Given the description of an element on the screen output the (x, y) to click on. 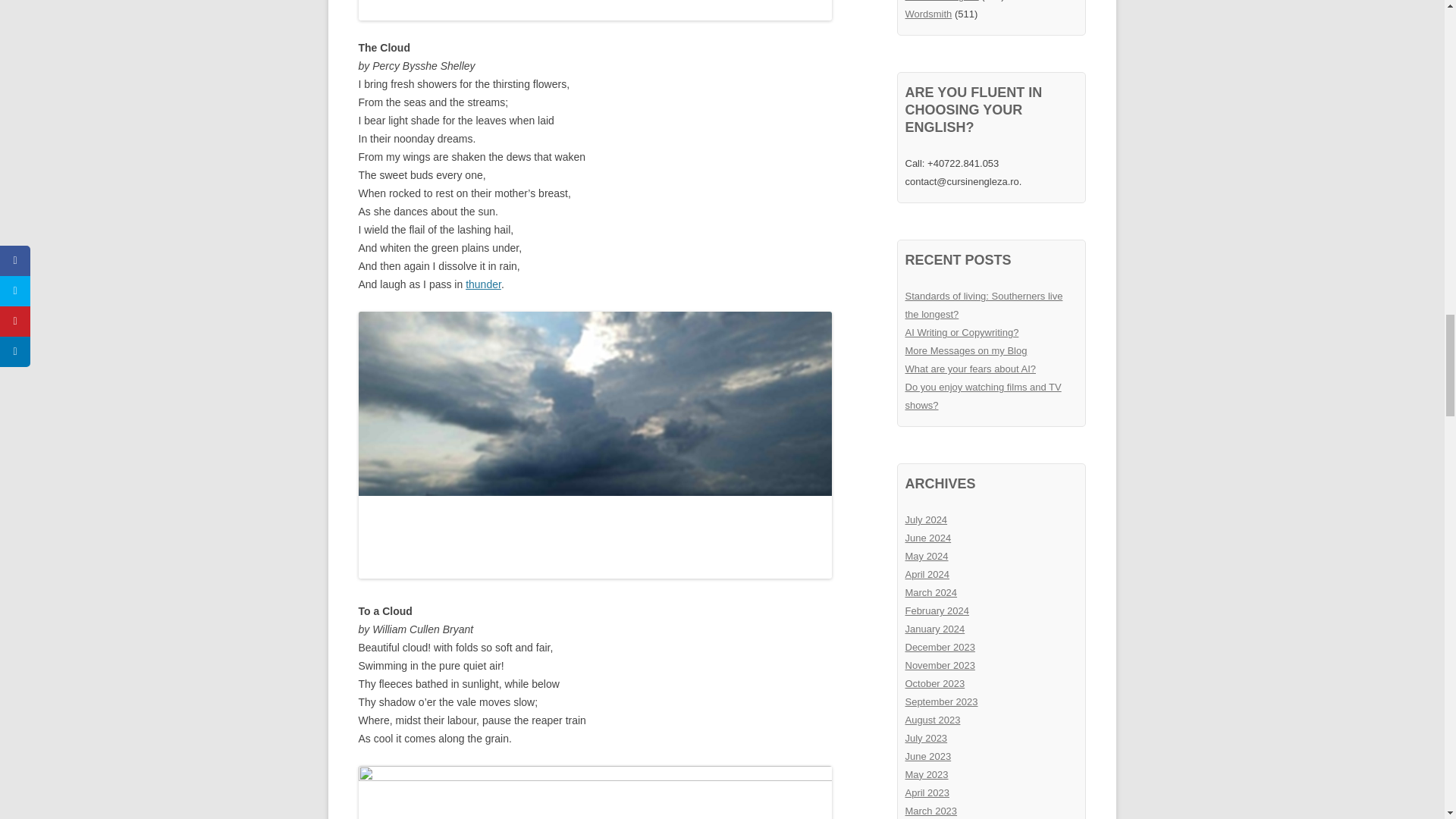
thunder (482, 284)
